Given the description of an element on the screen output the (x, y) to click on. 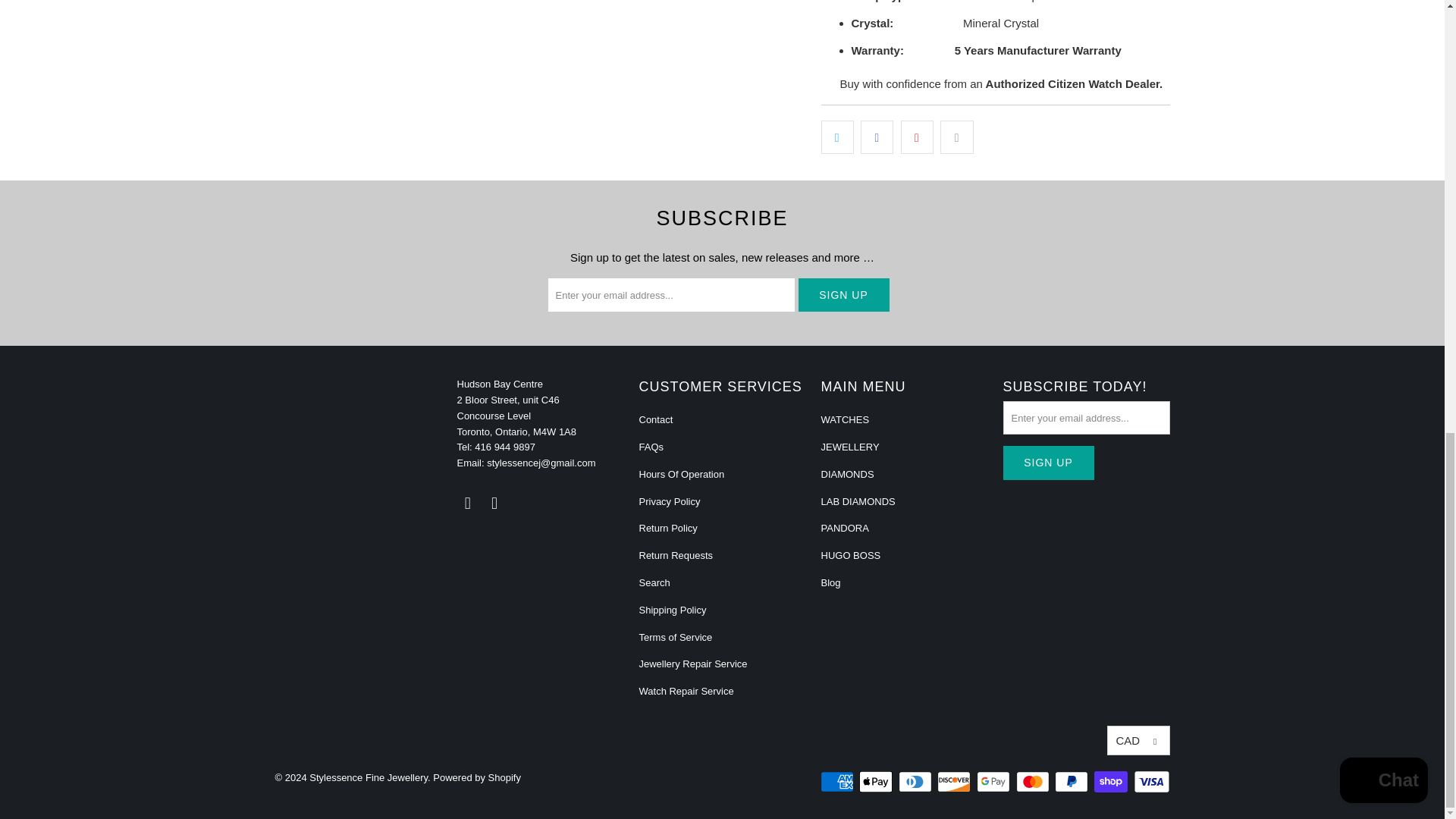
Share this on Facebook (876, 136)
American Express (839, 781)
Sign Up (1048, 462)
Visa (1150, 781)
Stylessence Fine Jewellery on Facebook (468, 503)
Stylessence Fine Jewellery on Instagram (494, 503)
Share this on Pinterest (917, 136)
Email this to a friend (956, 136)
Google Pay (994, 781)
Mastercard (1034, 781)
